Given the description of an element on the screen output the (x, y) to click on. 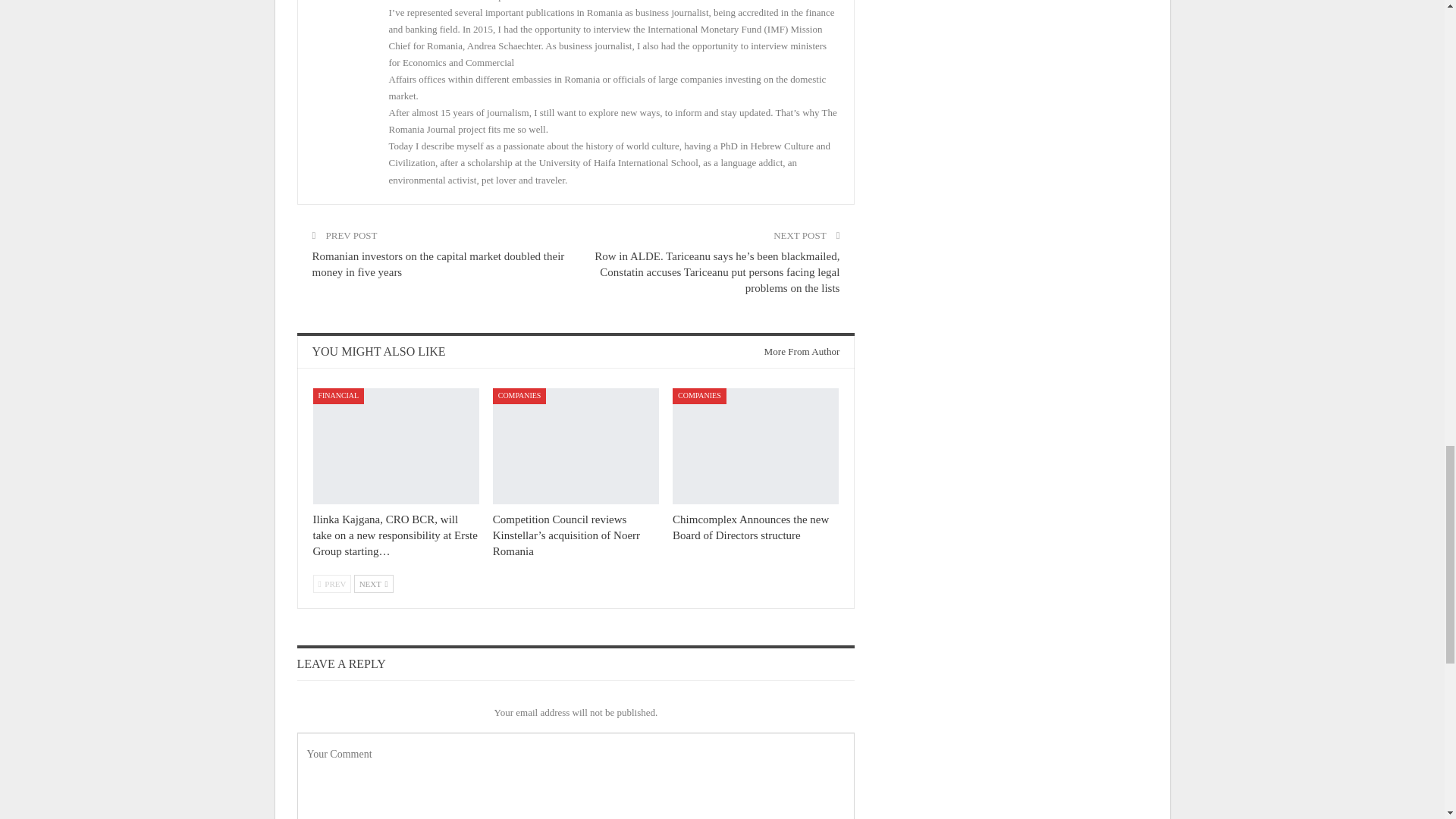
Previous (331, 583)
Chimcomplex Announces the new Board of Directors structure (750, 527)
Chimcomplex Announces the new Board of Directors structure (755, 446)
